Given the description of an element on the screen output the (x, y) to click on. 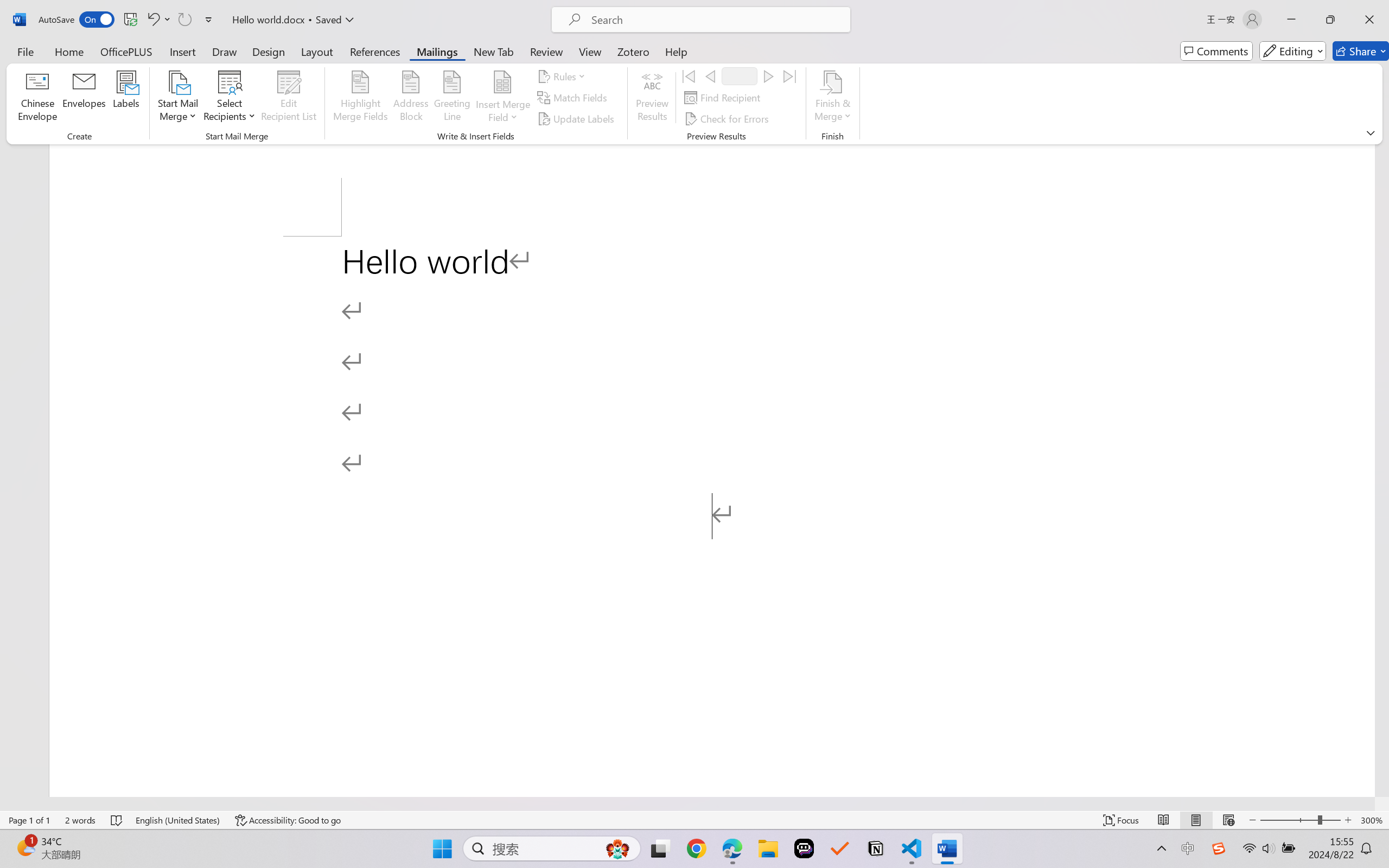
Save (130, 19)
Page 1 content (711, 516)
Restore Down (1330, 19)
Insert Merge Field (502, 97)
Undo Click and Type Formatting (152, 19)
OfficePLUS (126, 51)
First (688, 75)
File Tab (24, 51)
Address Block... (410, 97)
Quick Access Toolbar (127, 19)
Layout (316, 51)
Last (790, 75)
Preview Results (652, 97)
